Given the description of an element on the screen output the (x, y) to click on. 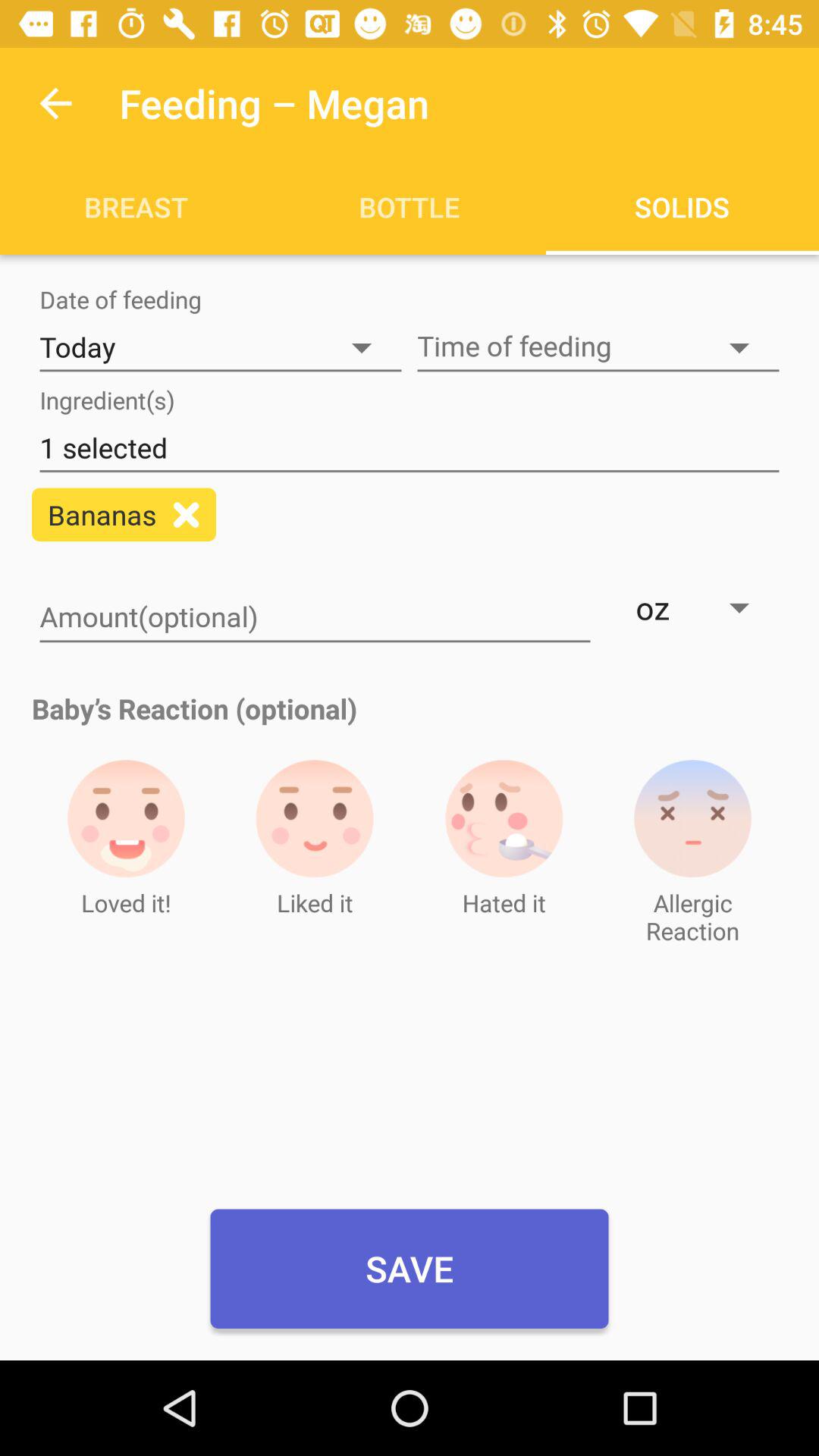
go to add (186, 514)
